Given the description of an element on the screen output the (x, y) to click on. 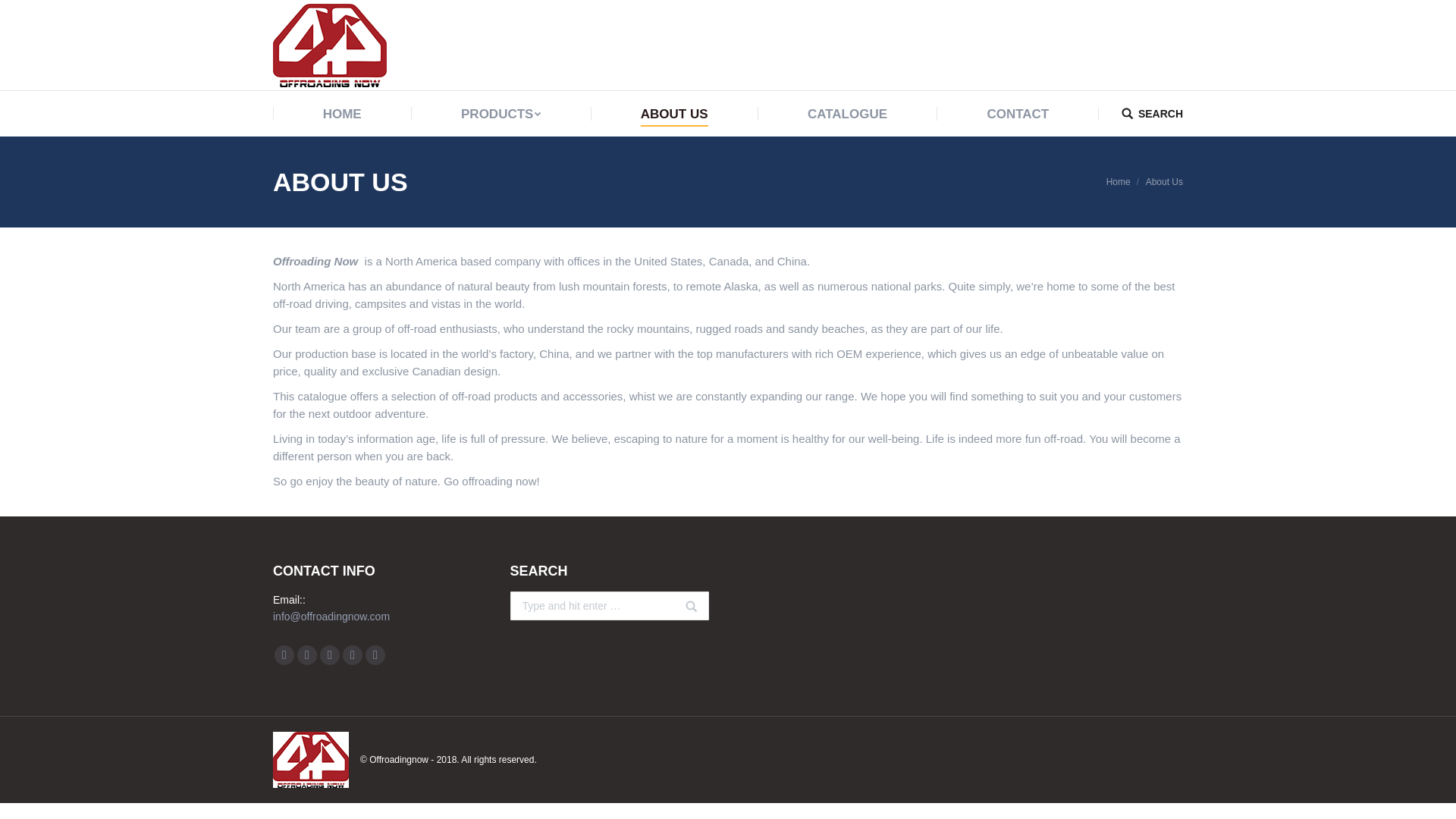
PRODUCTS (500, 114)
Go! (684, 614)
CATALOGUE (847, 114)
Go! (684, 614)
ABOUT US (673, 114)
CONTACT (1017, 114)
HOME (342, 114)
Go! (23, 14)
SEARCH (1151, 112)
